Given the description of an element on the screen output the (x, y) to click on. 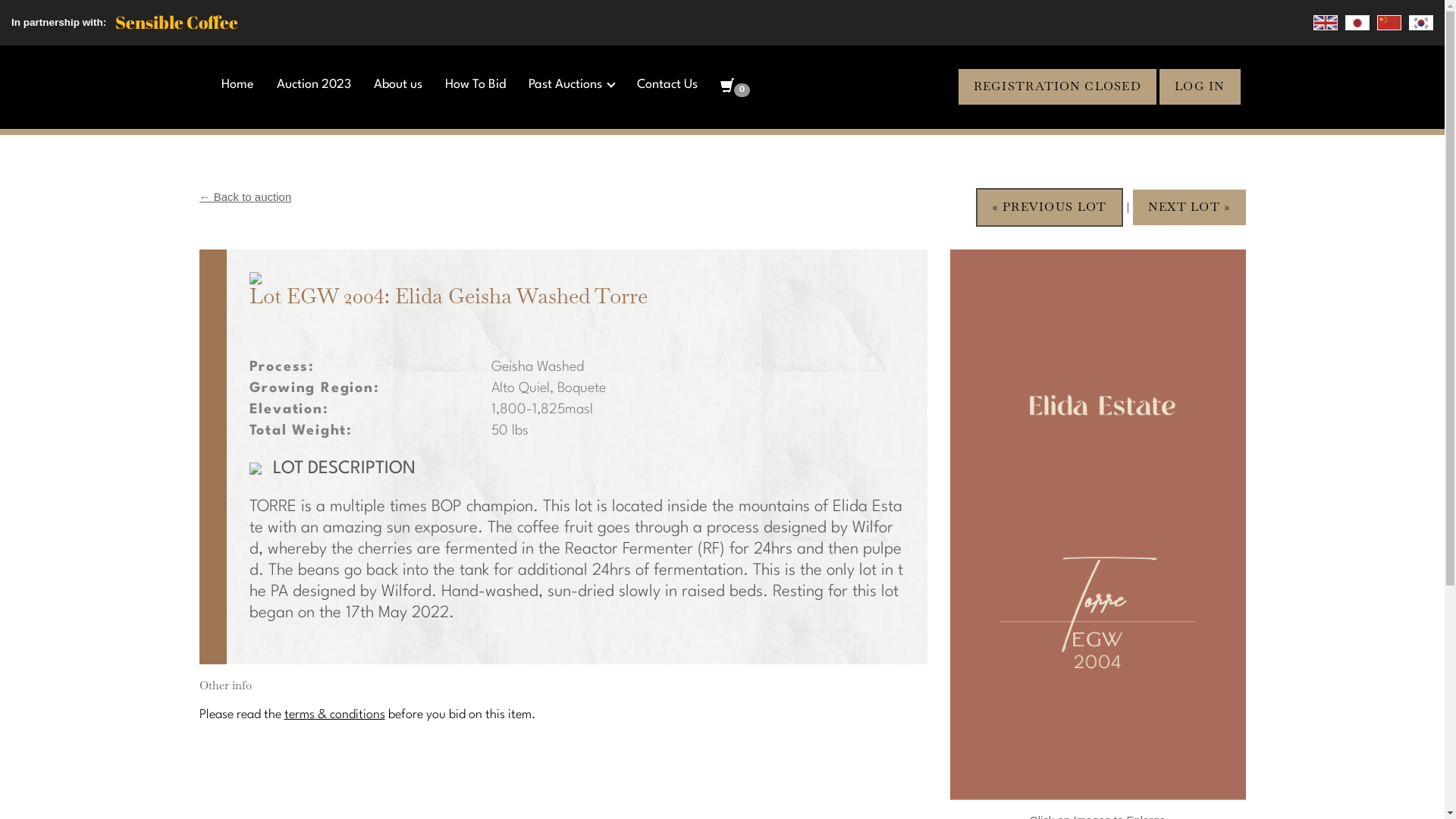
zh Element type: text (1389, 22)
Past Auctions Element type: text (571, 84)
en Element type: text (1325, 22)
LOG IN Element type: text (1199, 86)
Sensible Coffee Element type: text (176, 22)
ja Element type: text (1357, 22)
About us Element type: text (397, 84)
Contact Us Element type: text (667, 84)
How To Bid Element type: text (475, 84)
0 Element type: text (734, 87)
REGISTRATION CLOSED Element type: text (1057, 86)
terms & conditions Element type: text (333, 714)
Auction 2023 Element type: text (313, 84)
Home Element type: text (237, 84)
ko Element type: text (1420, 22)
